Given the description of an element on the screen output the (x, y) to click on. 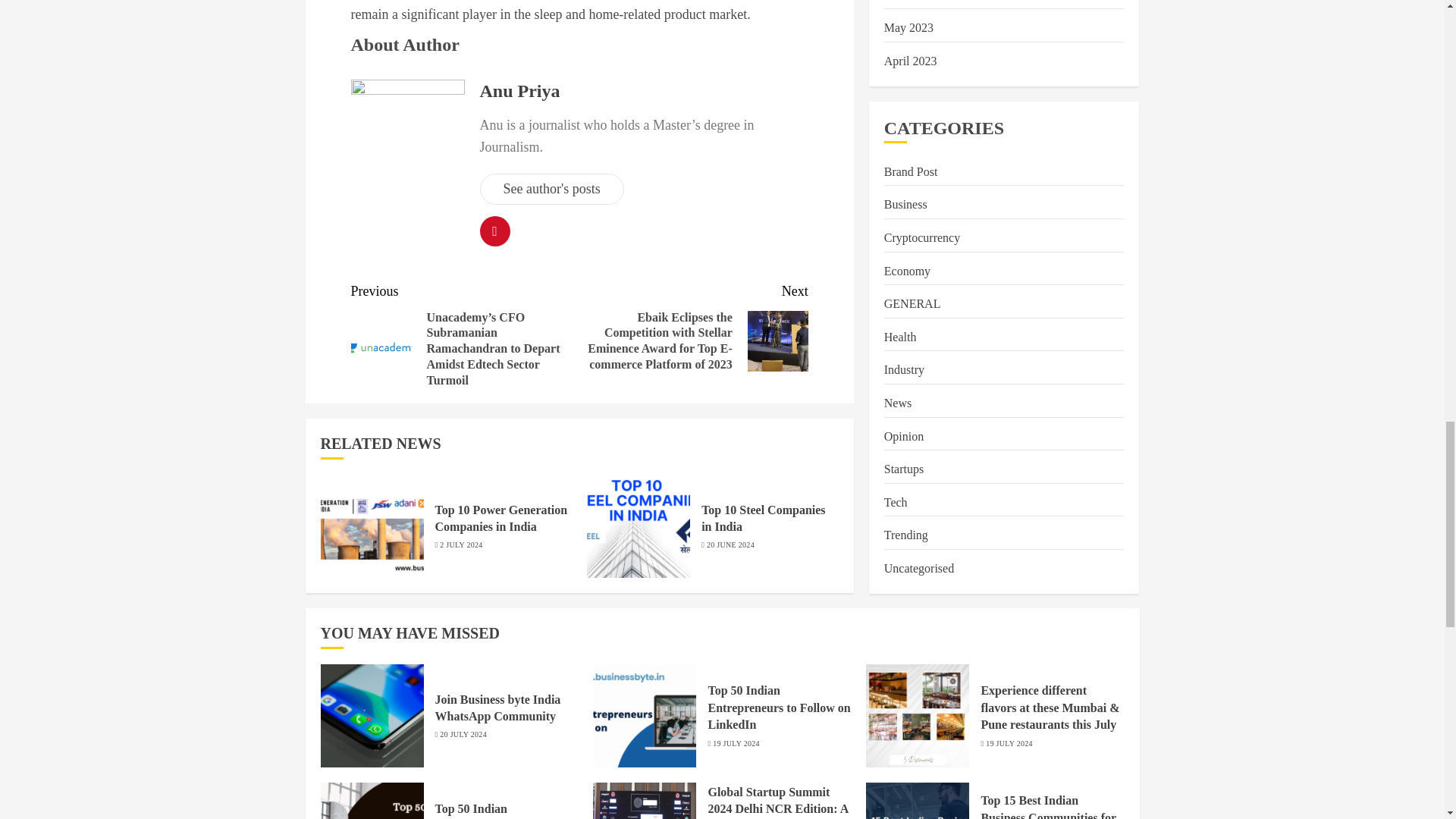
See author's posts (551, 188)
Anu Priya (519, 91)
Top 10 Power Generation Companies in India (501, 518)
2 JULY 2024 (460, 544)
